Given the description of an element on the screen output the (x, y) to click on. 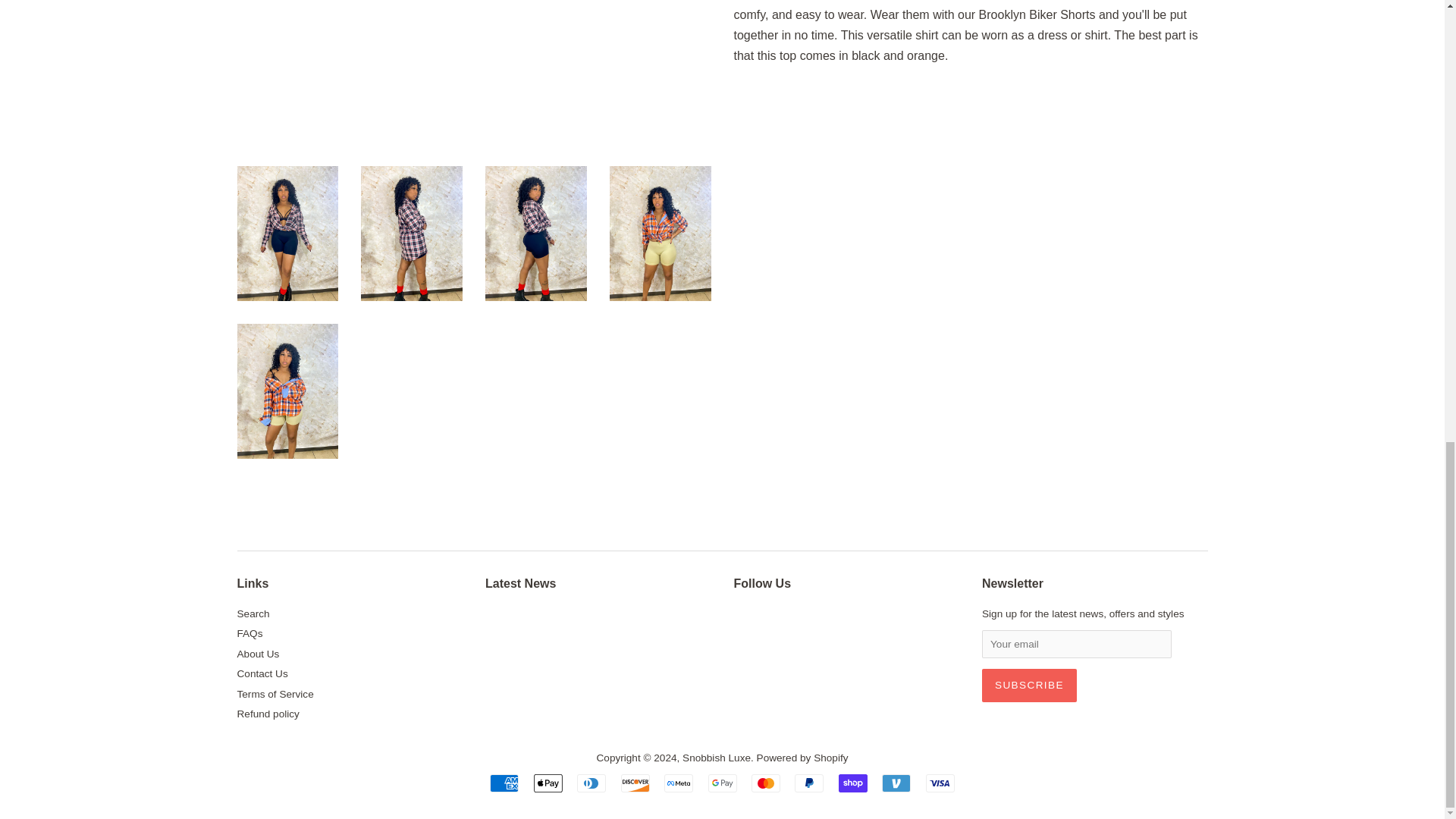
American Express (503, 782)
Meta Pay (678, 782)
Google Pay (721, 782)
Subscribe (1029, 685)
Apple Pay (548, 782)
Venmo (896, 782)
Diners Club (590, 782)
Visa (940, 782)
PayPal (809, 782)
Discover (635, 782)
Mastercard (765, 782)
Shop Pay (852, 782)
